Given the description of an element on the screen output the (x, y) to click on. 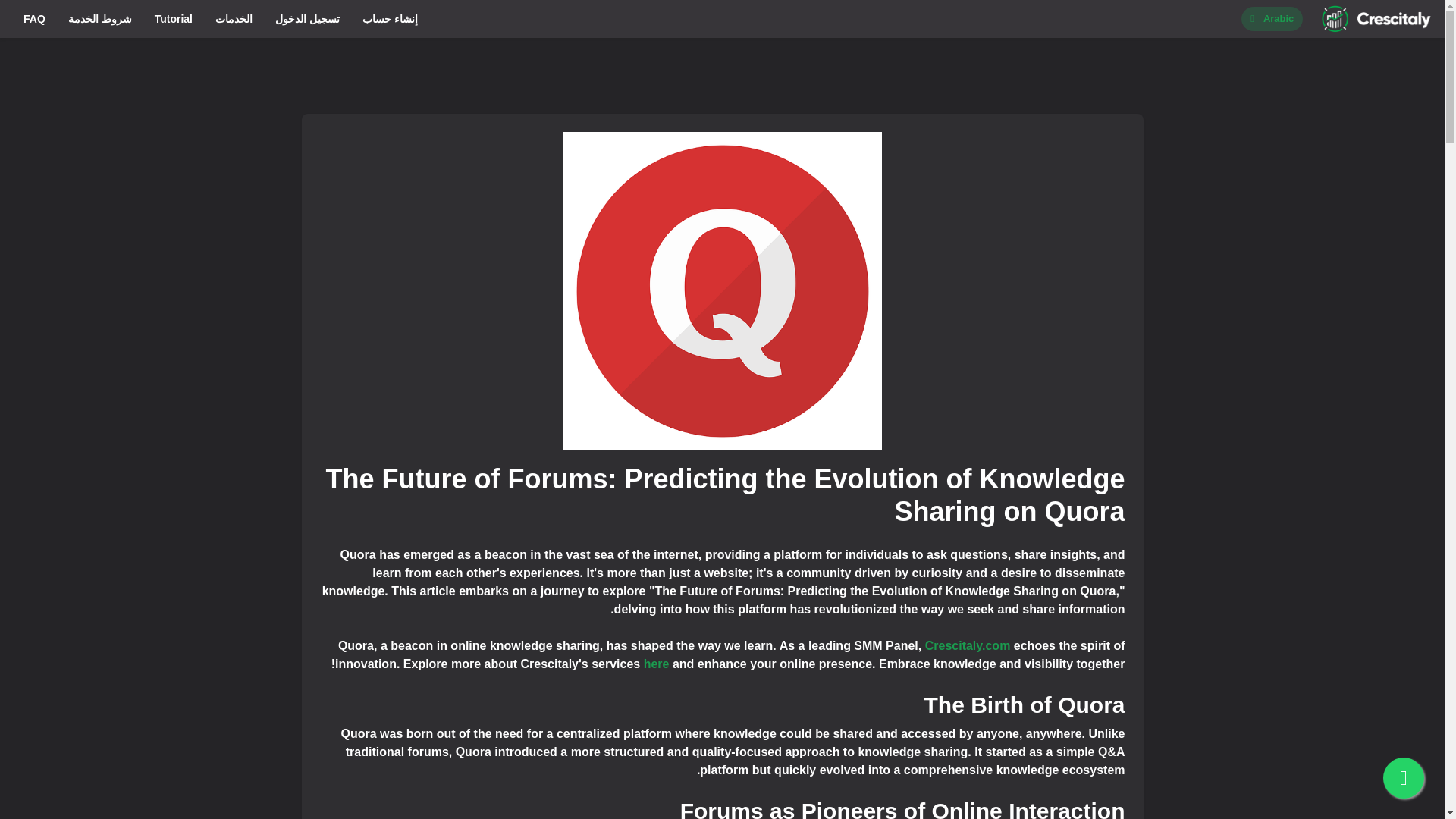
here (656, 663)
Crescitaly.com (967, 645)
FAQ (33, 18)
Tutorial (172, 18)
